Given the description of an element on the screen output the (x, y) to click on. 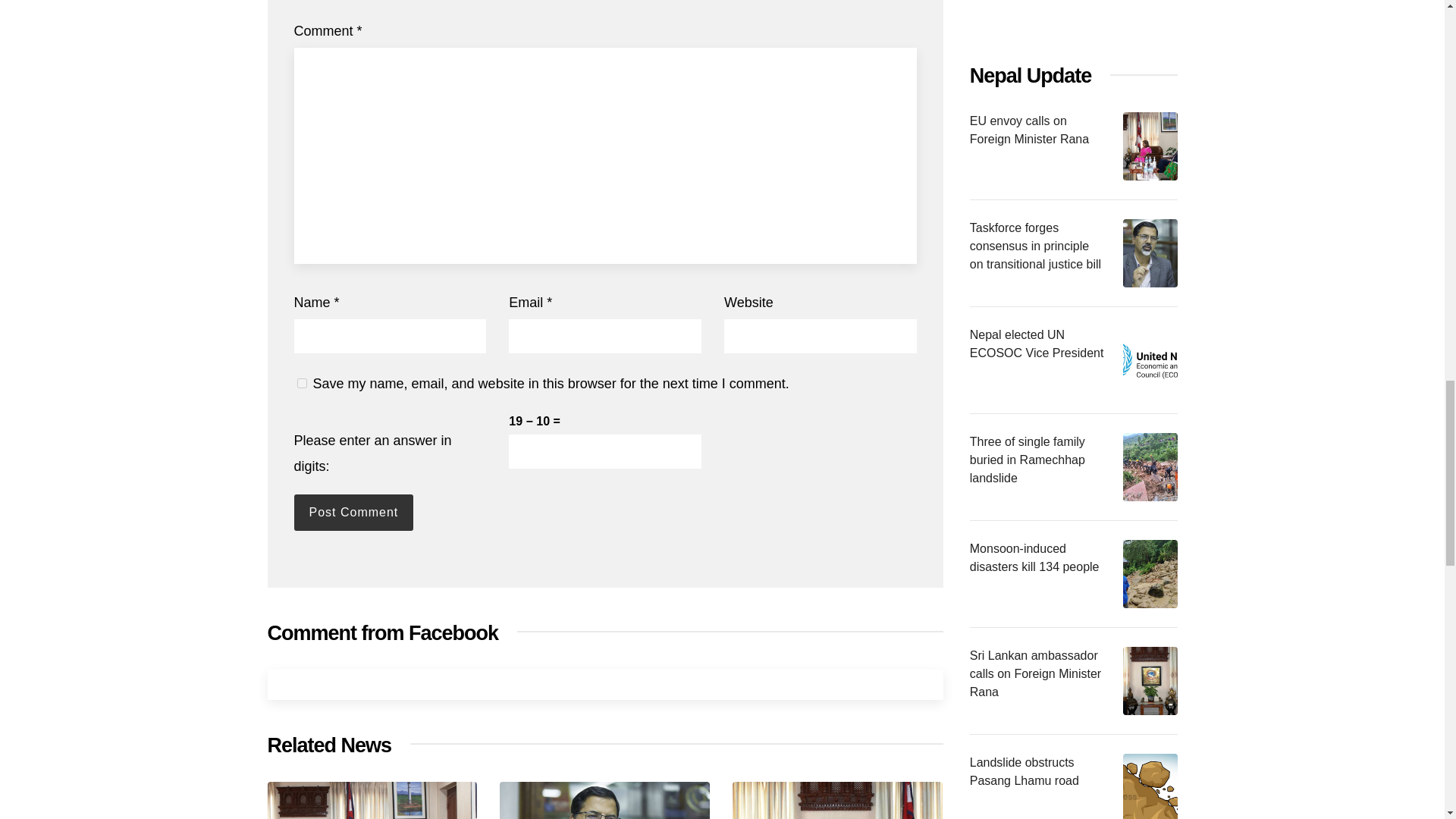
yes (302, 383)
Post Comment (353, 512)
